Given the description of an element on the screen output the (x, y) to click on. 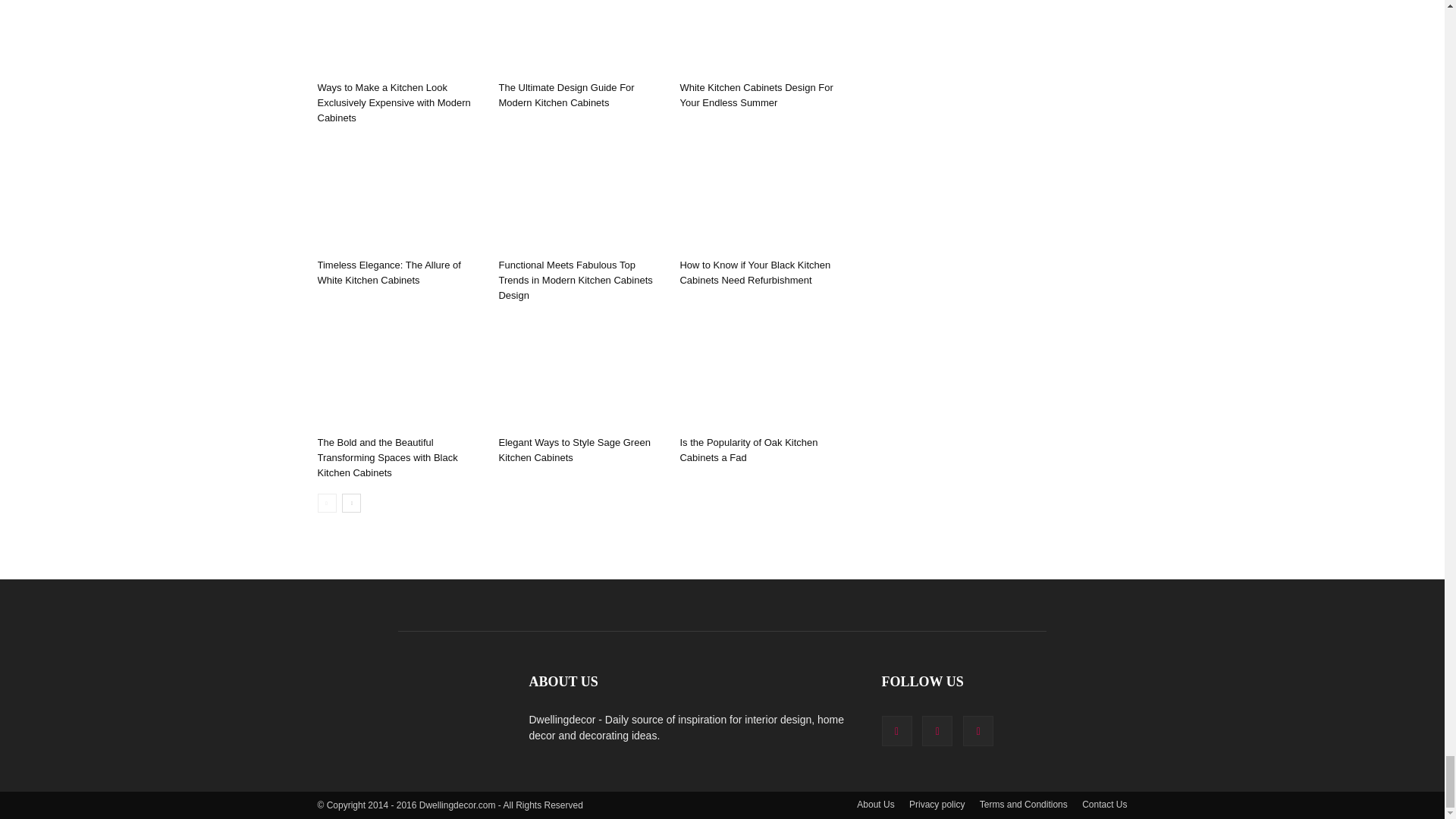
The Ultimate Design Guide For Modern Kitchen Cabinets (580, 37)
The Ultimate Design Guide For Modern Kitchen Cabinets (565, 94)
